Given the description of an element on the screen output the (x, y) to click on. 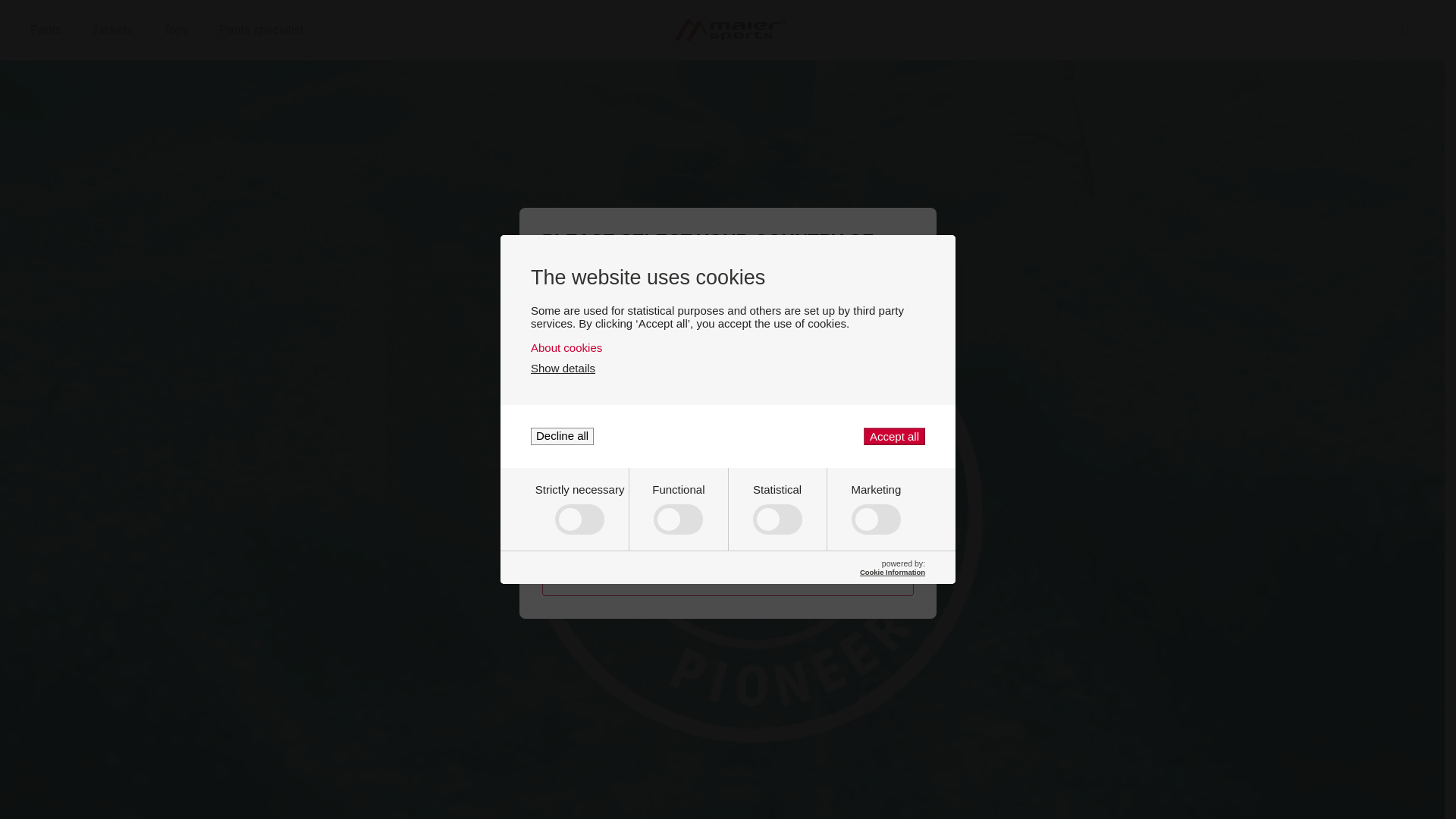
Accept all (893, 436)
Show details (563, 367)
About cookies (174, 30)
Decline all (727, 347)
Cookie Information (562, 436)
